Given the description of an element on the screen output the (x, y) to click on. 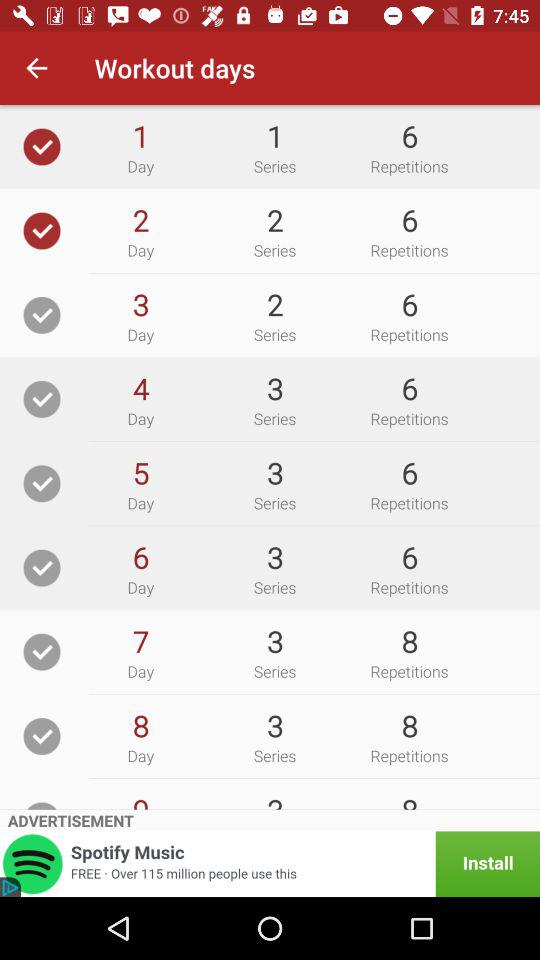
launch the icon to the left of the 3 icon (140, 799)
